Given the description of an element on the screen output the (x, y) to click on. 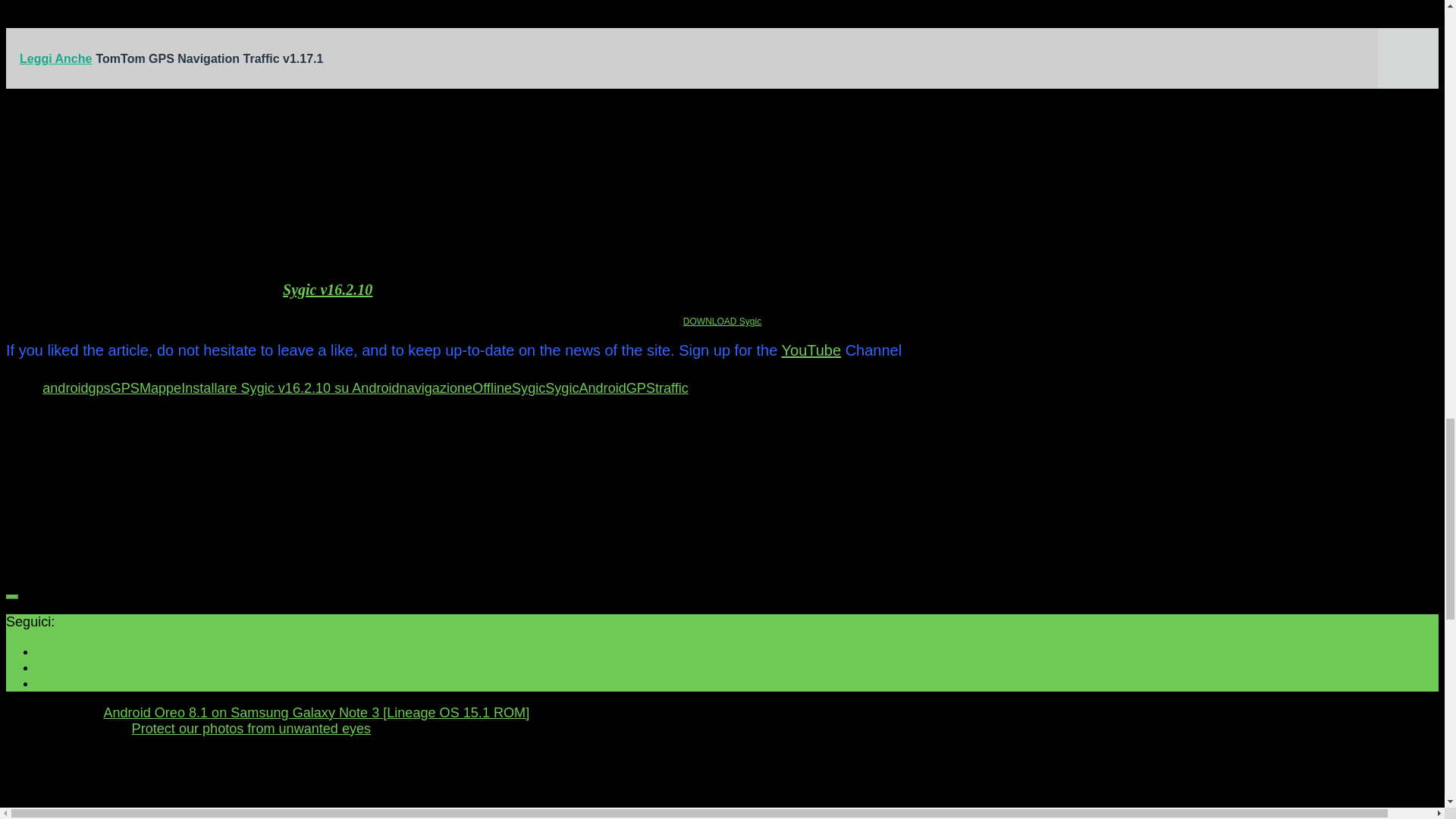
Sygic v16.2.10 (327, 289)
Installare Sygic v16.2.10 su Android (289, 387)
Protect our photos from unwanted eyes (251, 728)
Offline (491, 387)
SygicAndroidGPS (599, 387)
gps (99, 387)
GPSMappe (145, 387)
Expand Sidebar (11, 596)
traffic (671, 387)
Leggi Anche TomTom GPS Navigation Traffic v1.17.1 (721, 57)
DOWNLOAD Sygic (721, 321)
YouTube (810, 350)
android (64, 387)
Sygic (528, 387)
navigazione (435, 387)
